Given the description of an element on the screen output the (x, y) to click on. 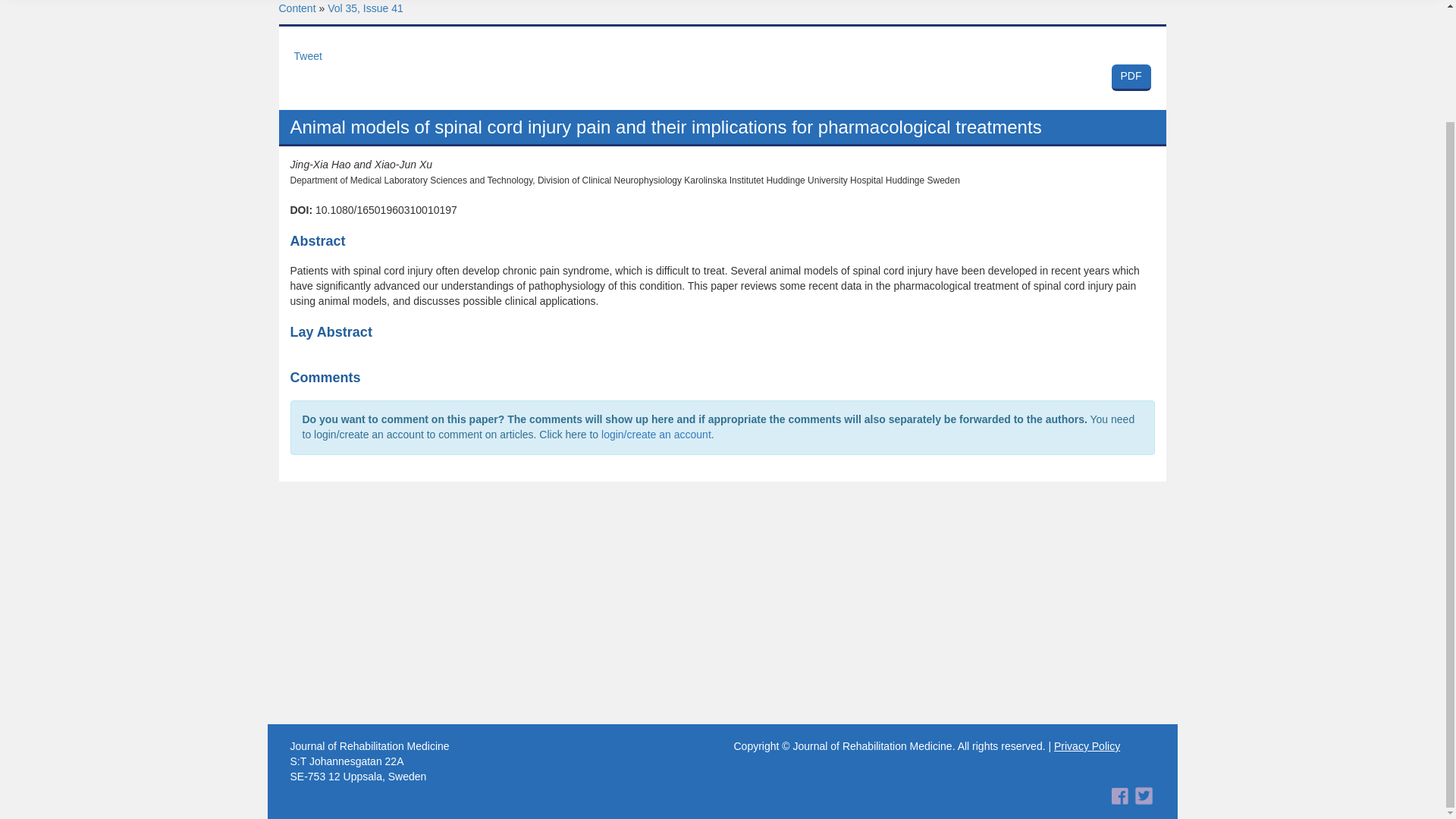
Content (297, 8)
Privacy Policy (1086, 746)
Vol 35, Issue 41 (722, 75)
PDF (365, 8)
Tweet (1131, 77)
